Given the description of an element on the screen output the (x, y) to click on. 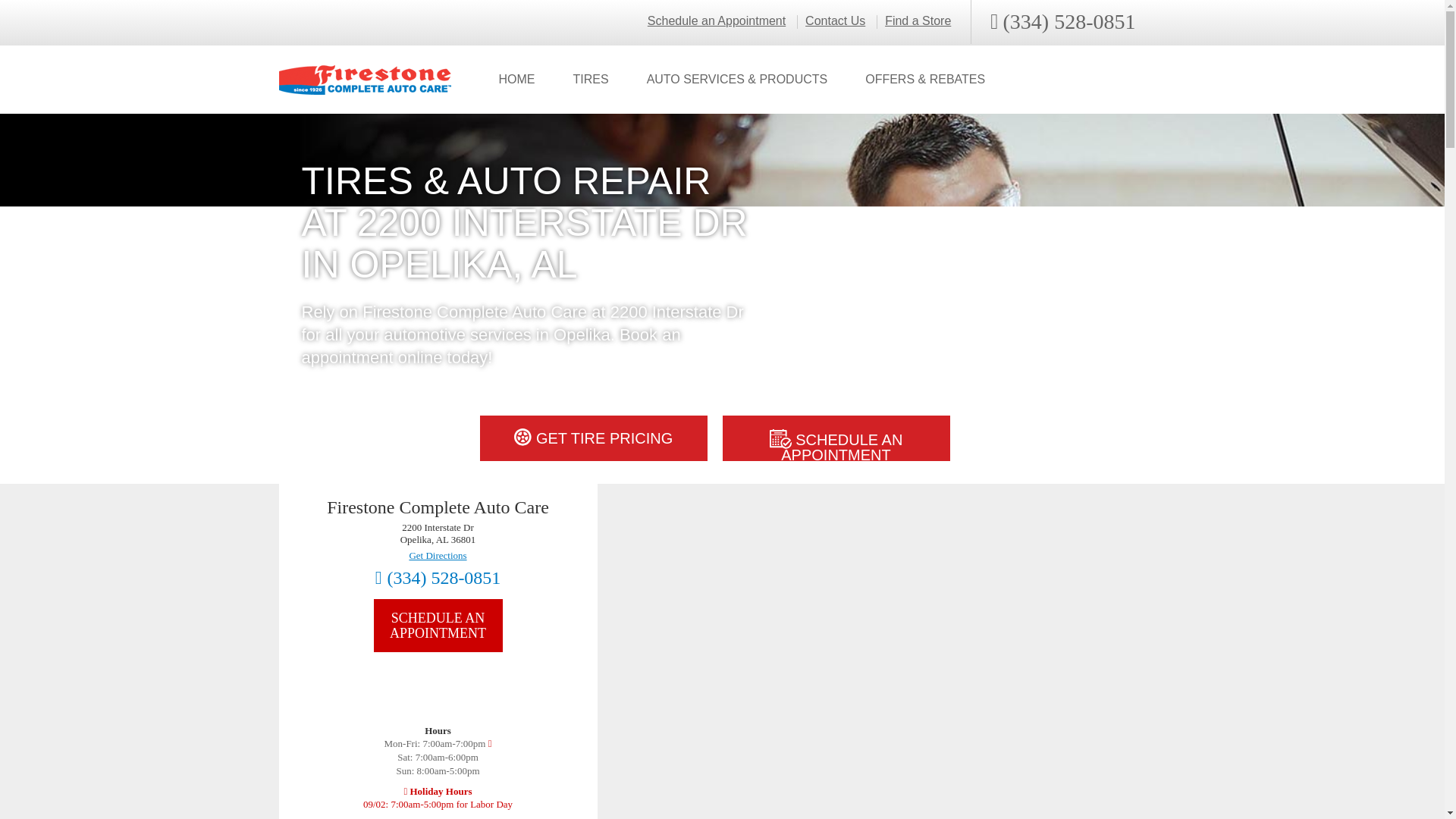
Firestone Complete Auto Care (365, 80)
SCHEDULE AN APPOINTMENT (835, 438)
Contact Us (834, 20)
Find a Store (918, 20)
Get Directions (437, 555)
TIRES (590, 79)
SCHEDULE AN APPOINTMENT (437, 624)
HOME (516, 79)
GET TIRE PRICING (592, 438)
Schedule an Appointment (716, 20)
